Given the description of an element on the screen output the (x, y) to click on. 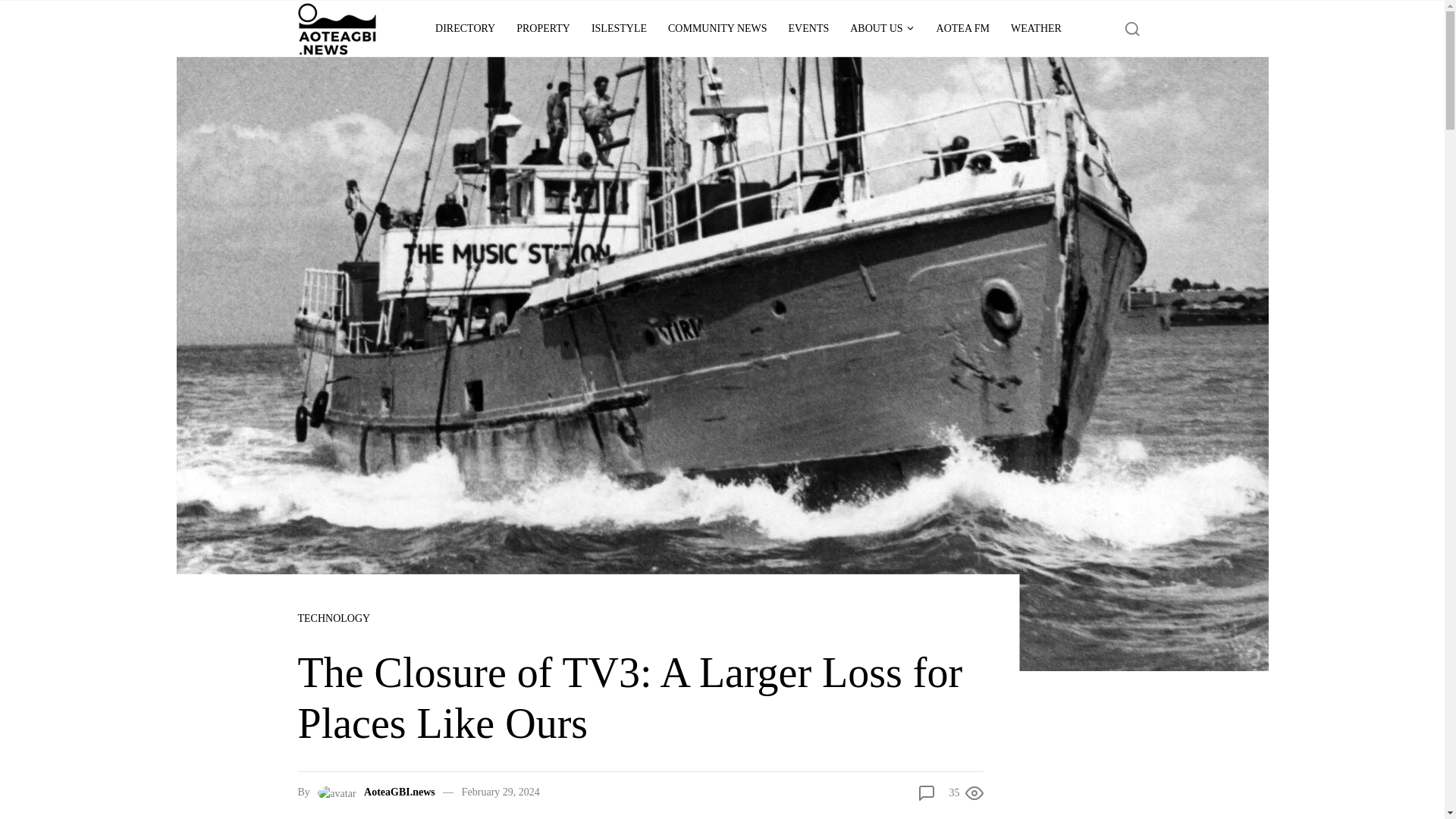
AoteaGBI.news (399, 791)
WEATHER (1035, 28)
AOTEA FM (963, 28)
PROPERTY (542, 28)
View all posts in Technology (333, 618)
ABOUT US (882, 28)
ISLESTYLE (619, 28)
DIRECTORY (465, 28)
EVENTS (808, 28)
TECHNOLOGY (333, 618)
Posts by AoteaGBI.news (399, 791)
February 29, 2024 (500, 791)
COMMUNITY NEWS (717, 28)
